Given the description of an element on the screen output the (x, y) to click on. 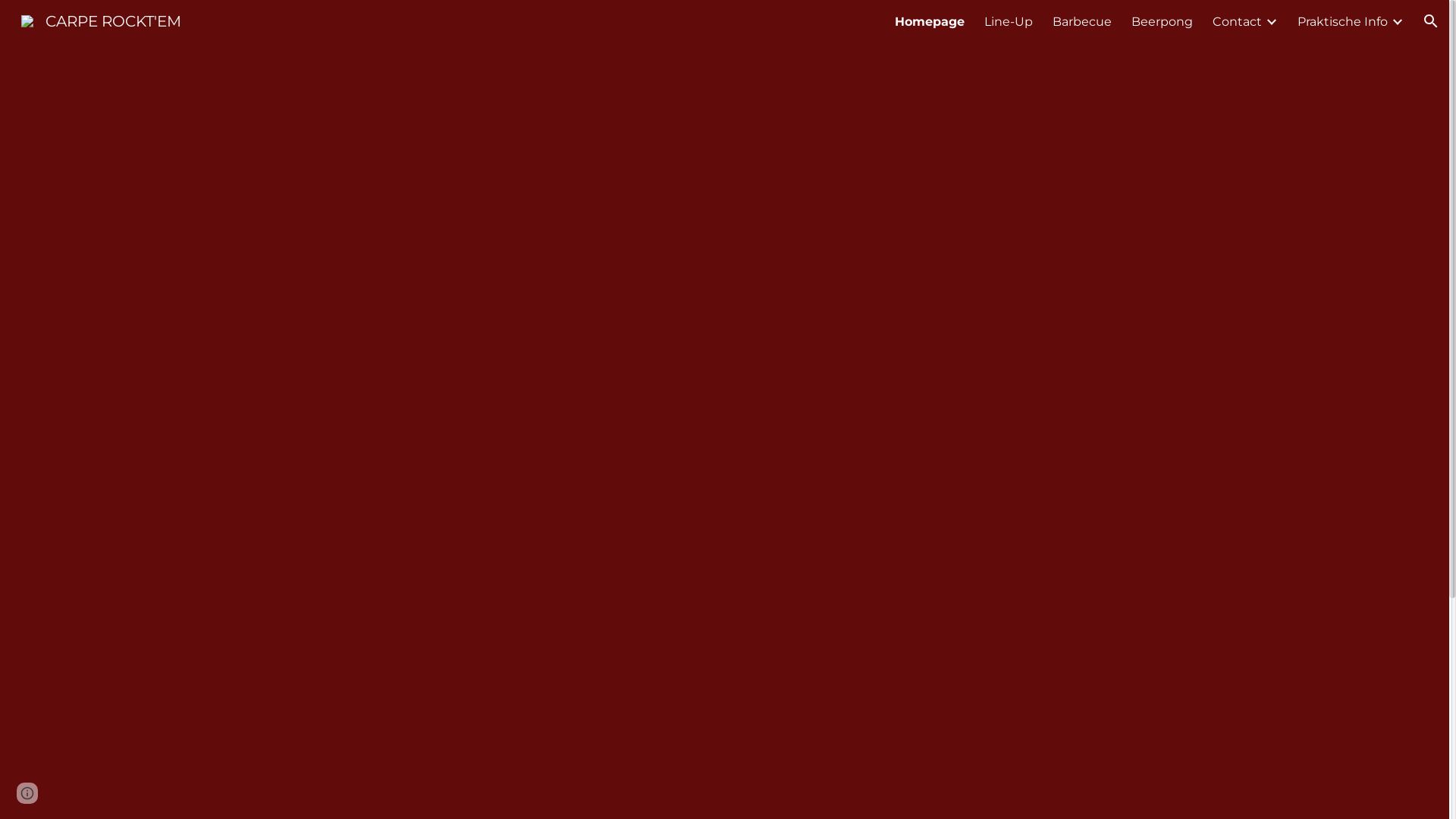
Line-Up Element type: text (1008, 20)
Homepage Element type: text (929, 20)
Praktische Info Element type: text (1342, 20)
Barbecue Element type: text (1081, 20)
CARPE ROCKT'EM Element type: text (101, 19)
Expand/Collapse Element type: hover (1396, 20)
Expand/Collapse Element type: hover (1270, 20)
Beerpong Element type: text (1161, 20)
Contact Element type: text (1236, 20)
